Given the description of an element on the screen output the (x, y) to click on. 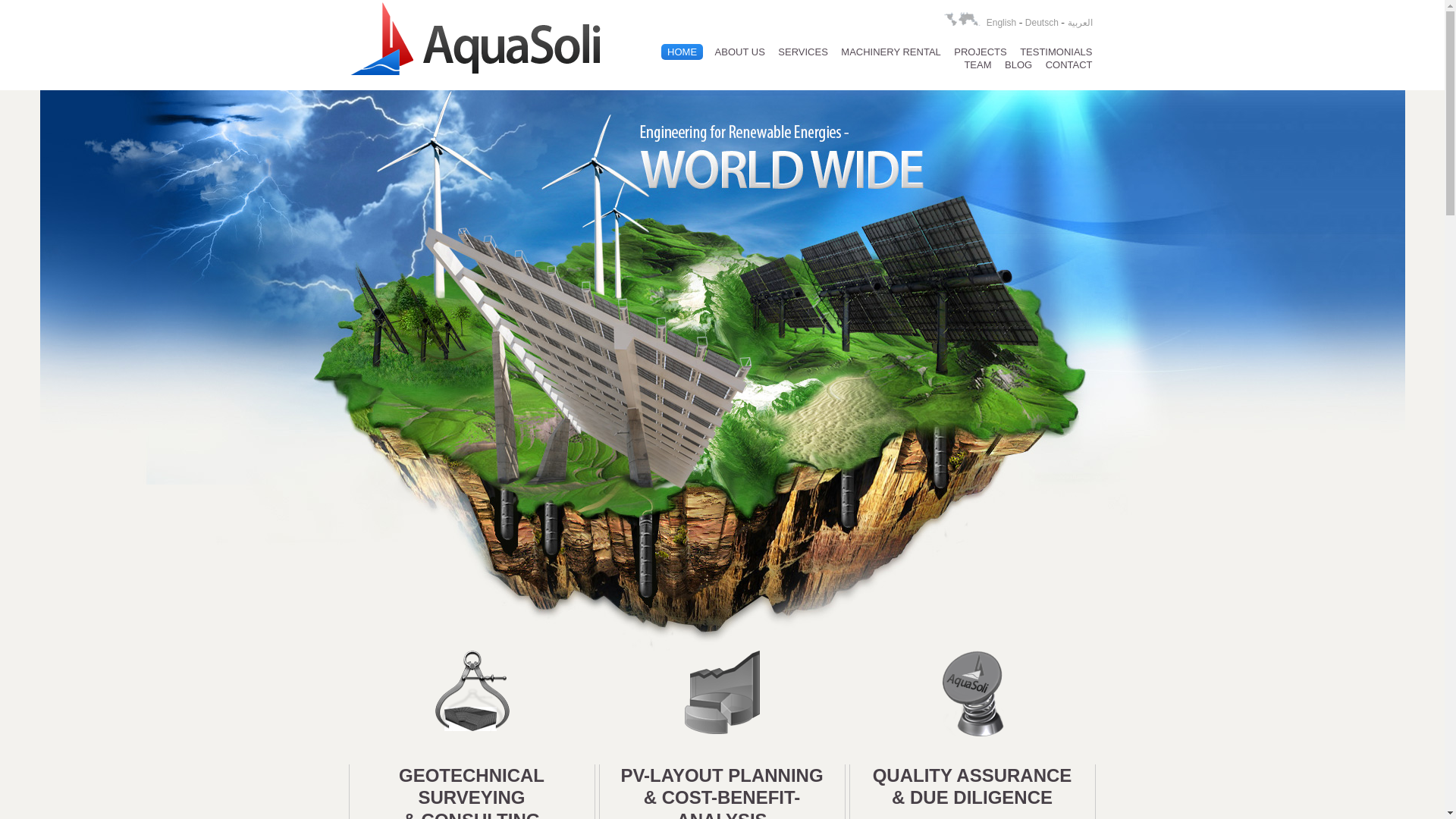
HOME (681, 51)
English (1001, 22)
BLOG (1018, 64)
Deutsch (1041, 22)
SERVICES (802, 51)
ABOUT US (739, 51)
MACHINERY RENTAL (890, 51)
PROJECTS (979, 51)
TEAM (977, 64)
TESTIMONIALS (1056, 51)
CONTACT (1069, 64)
